Given the description of an element on the screen output the (x, y) to click on. 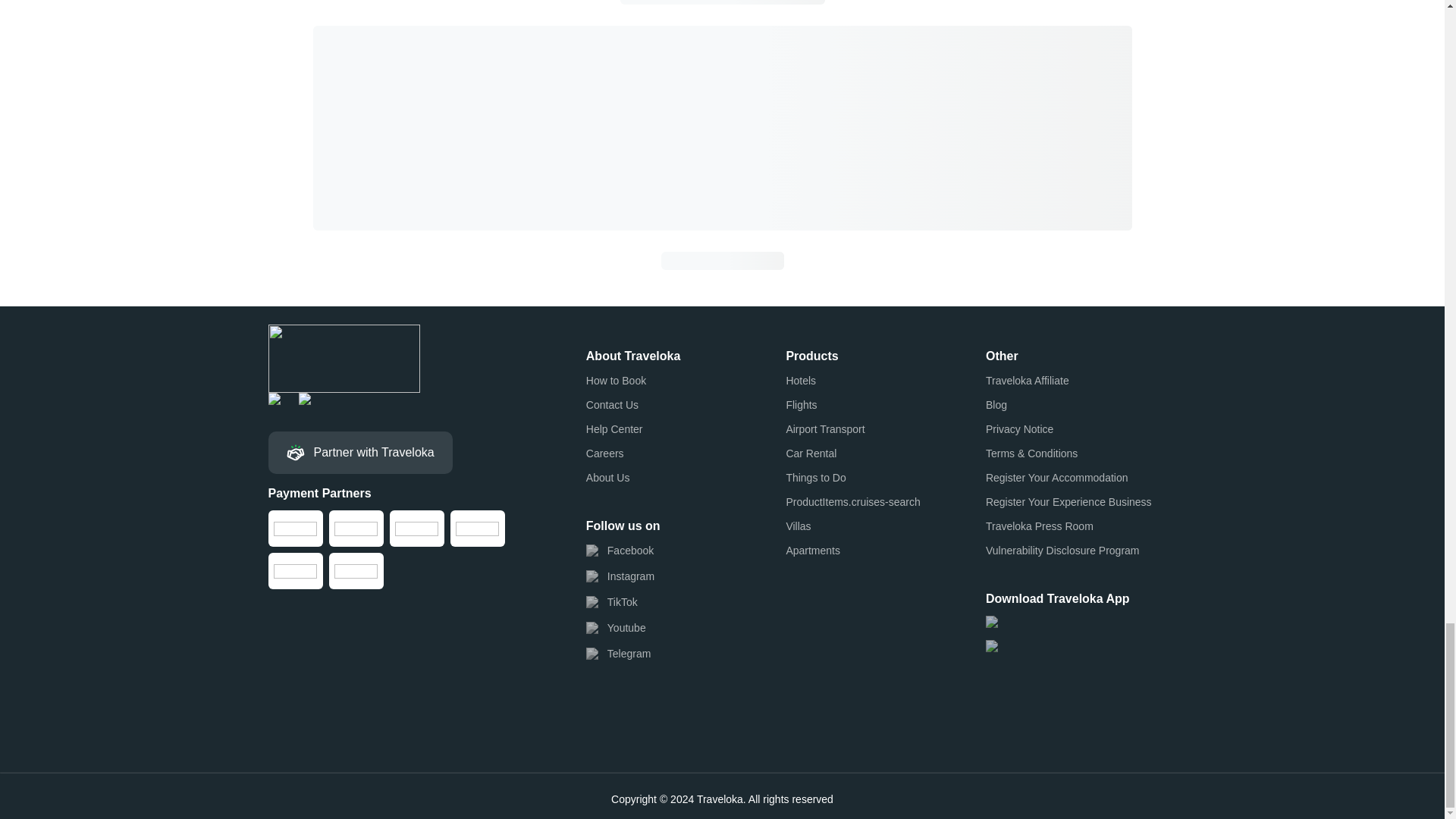
Partner with Traveloka (359, 452)
Help Center (614, 428)
TikTok (611, 601)
Youtube (616, 627)
Contact Us (612, 404)
Facebook (619, 549)
About Us (608, 477)
Instagram (619, 575)
How to Book (616, 380)
Careers (605, 453)
